Given the description of an element on the screen output the (x, y) to click on. 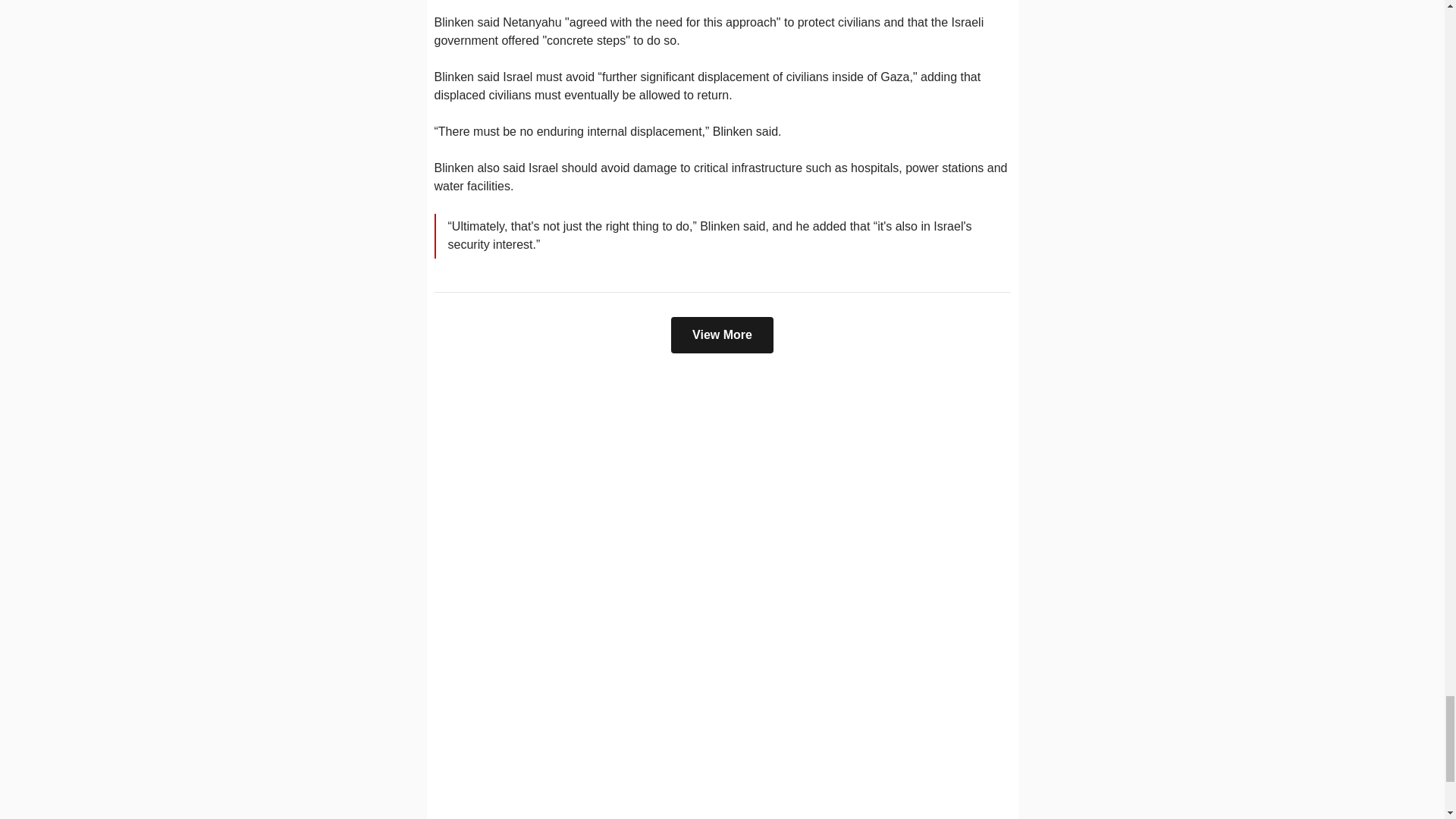
View More (722, 334)
